Given the description of an element on the screen output the (x, y) to click on. 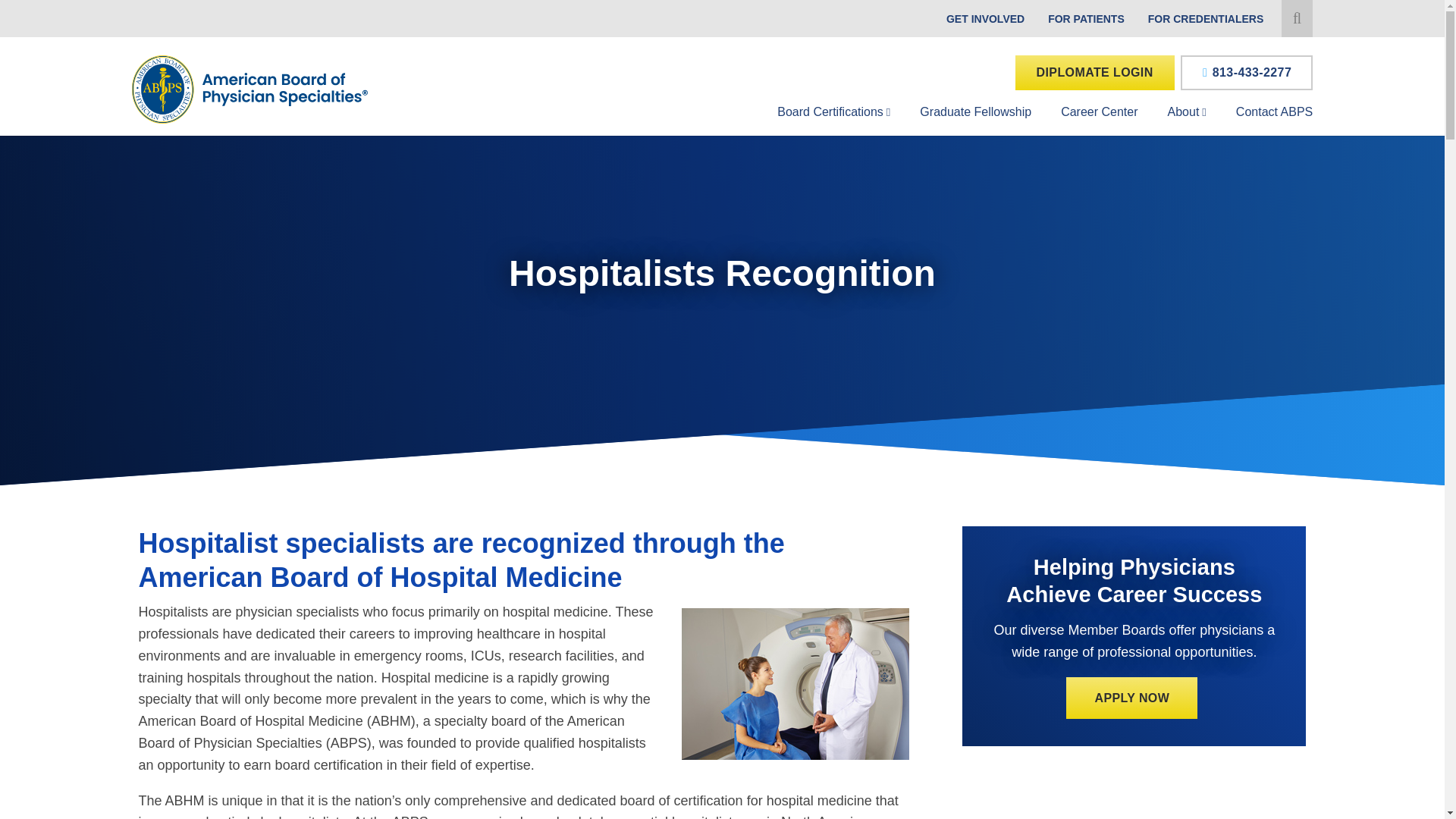
FOR PATIENTS (1086, 19)
Search (1301, 18)
Hospitalists Recognition (794, 684)
Contact ABPS (1271, 111)
Career Center (1095, 111)
FOR CREDENTIALERS (1205, 19)
DIPLOMATE LOGIN (1094, 72)
Search (1301, 18)
GET INVOLVED (985, 19)
813-433-2277 (1246, 72)
Search (1301, 18)
Graduate Fellowship (972, 111)
Board Certifications (830, 111)
APPLY NOW (1130, 697)
About (1184, 111)
